Given the description of an element on the screen output the (x, y) to click on. 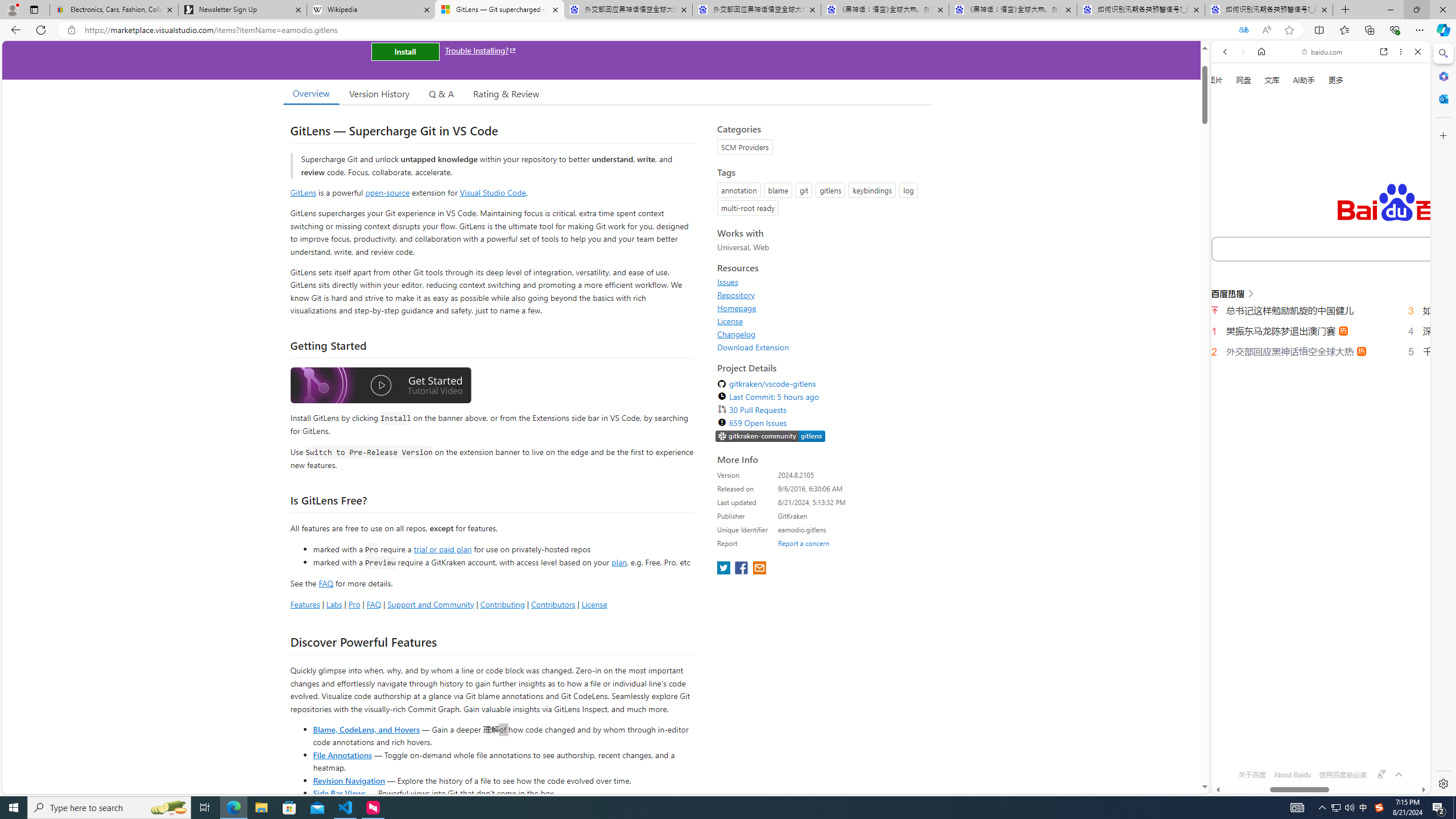
Translated (1243, 29)
trial or paid plan (442, 548)
